Given the description of an element on the screen output the (x, y) to click on. 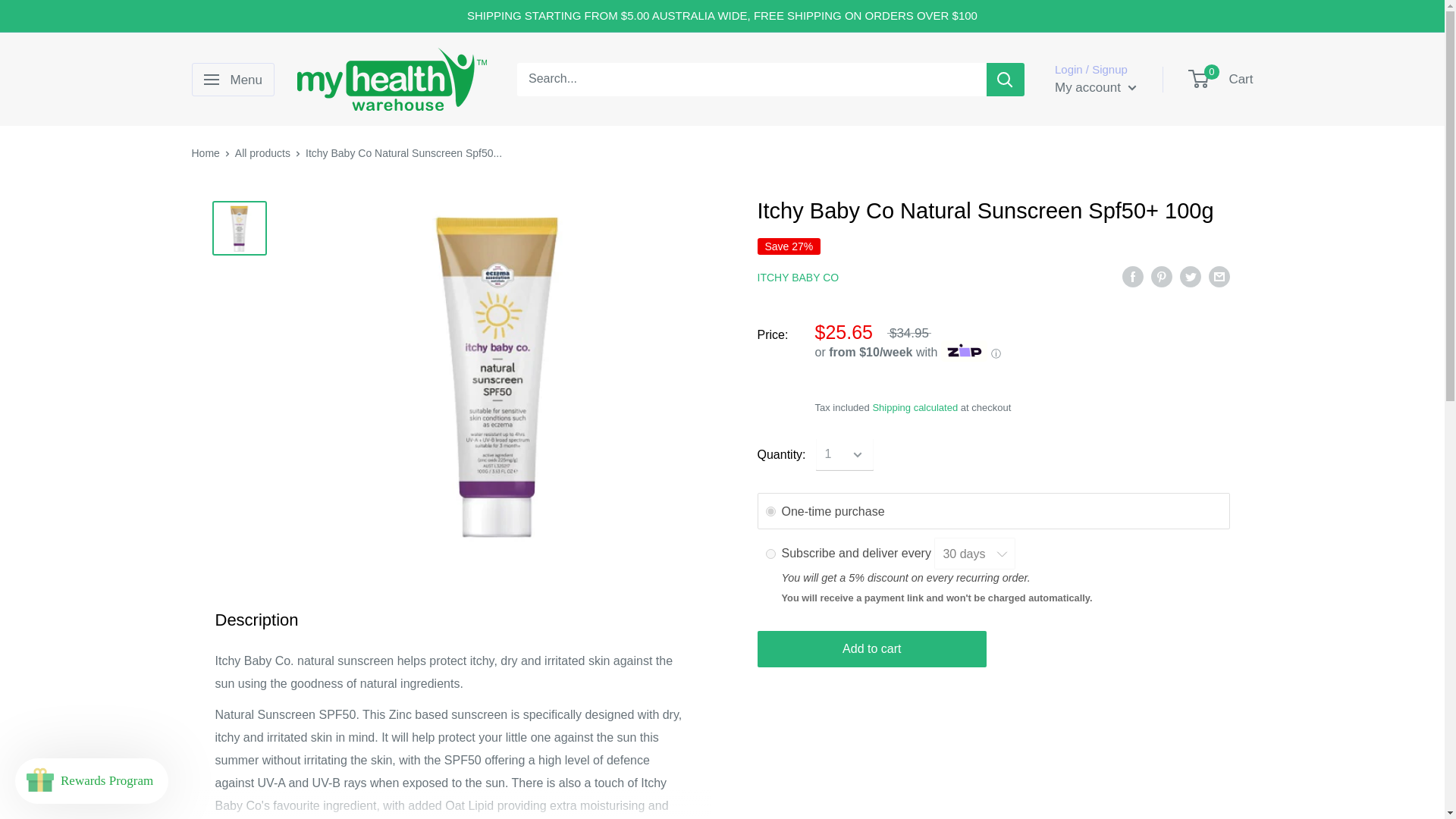
subscription (770, 553)
